Given the description of an element on the screen output the (x, y) to click on. 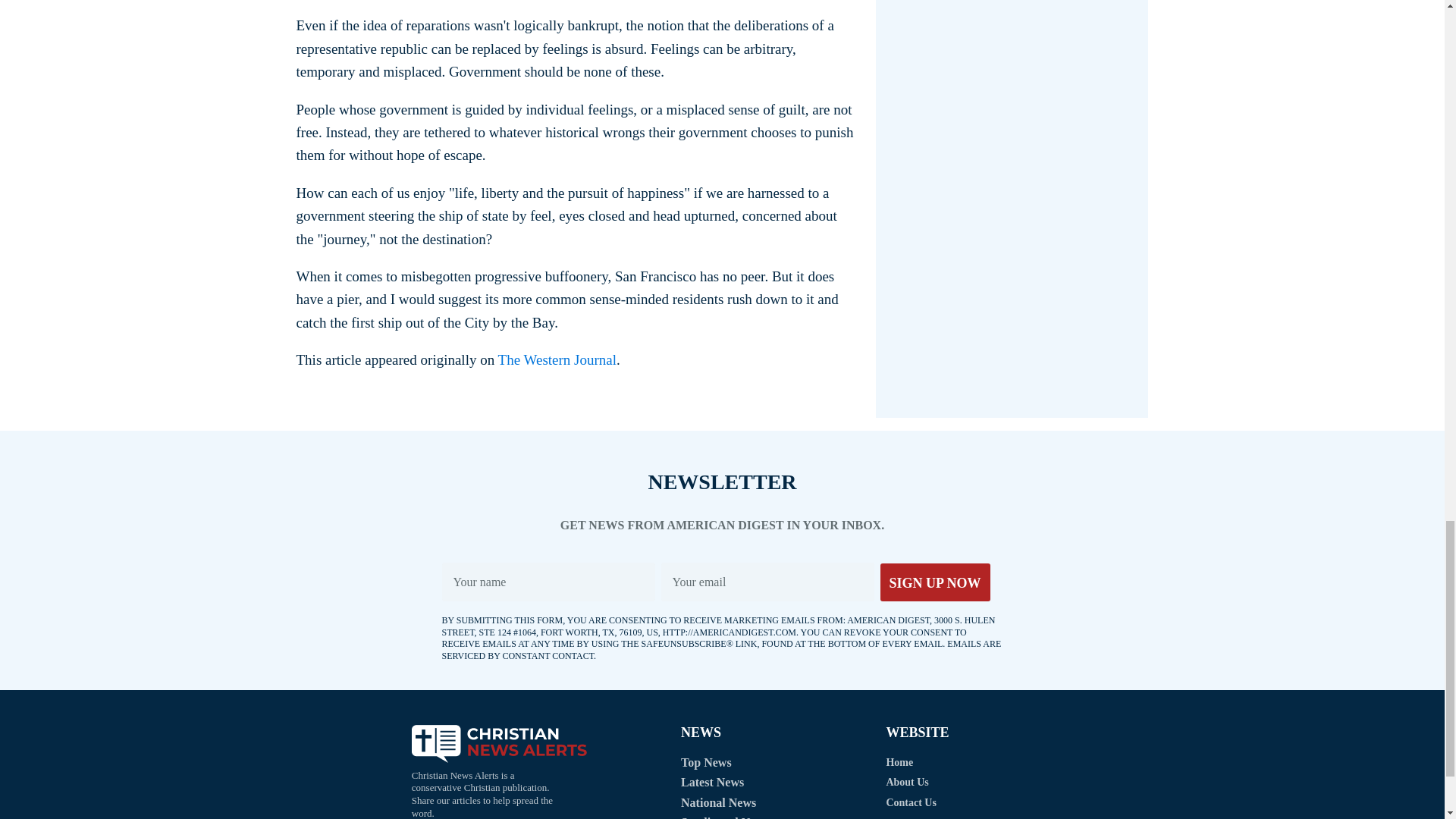
SIGN UP NOW (934, 582)
Latest News (712, 782)
Top News (706, 762)
The Western Journal (556, 359)
SIGN UP NOW (934, 582)
